Given the description of an element on the screen output the (x, y) to click on. 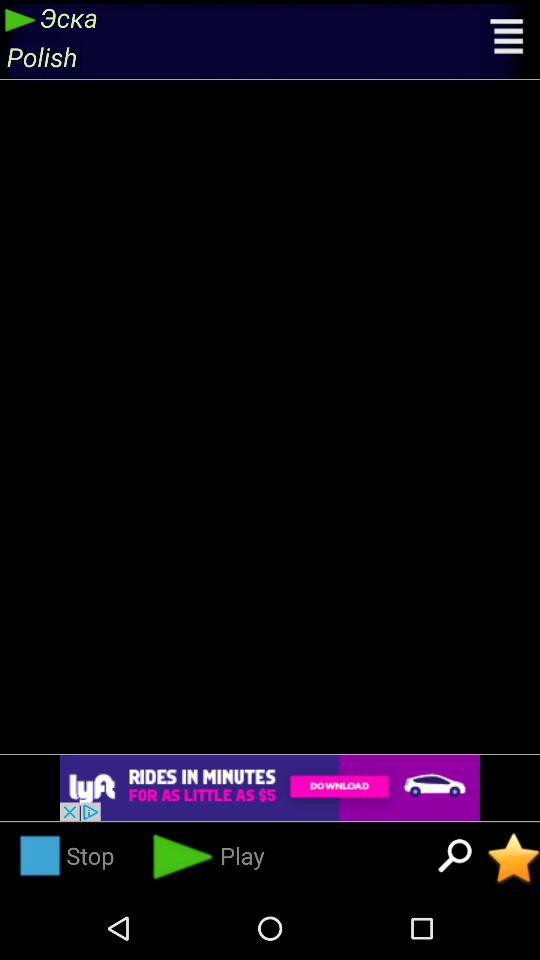
turn on and off app (513, 858)
